Given the description of an element on the screen output the (x, y) to click on. 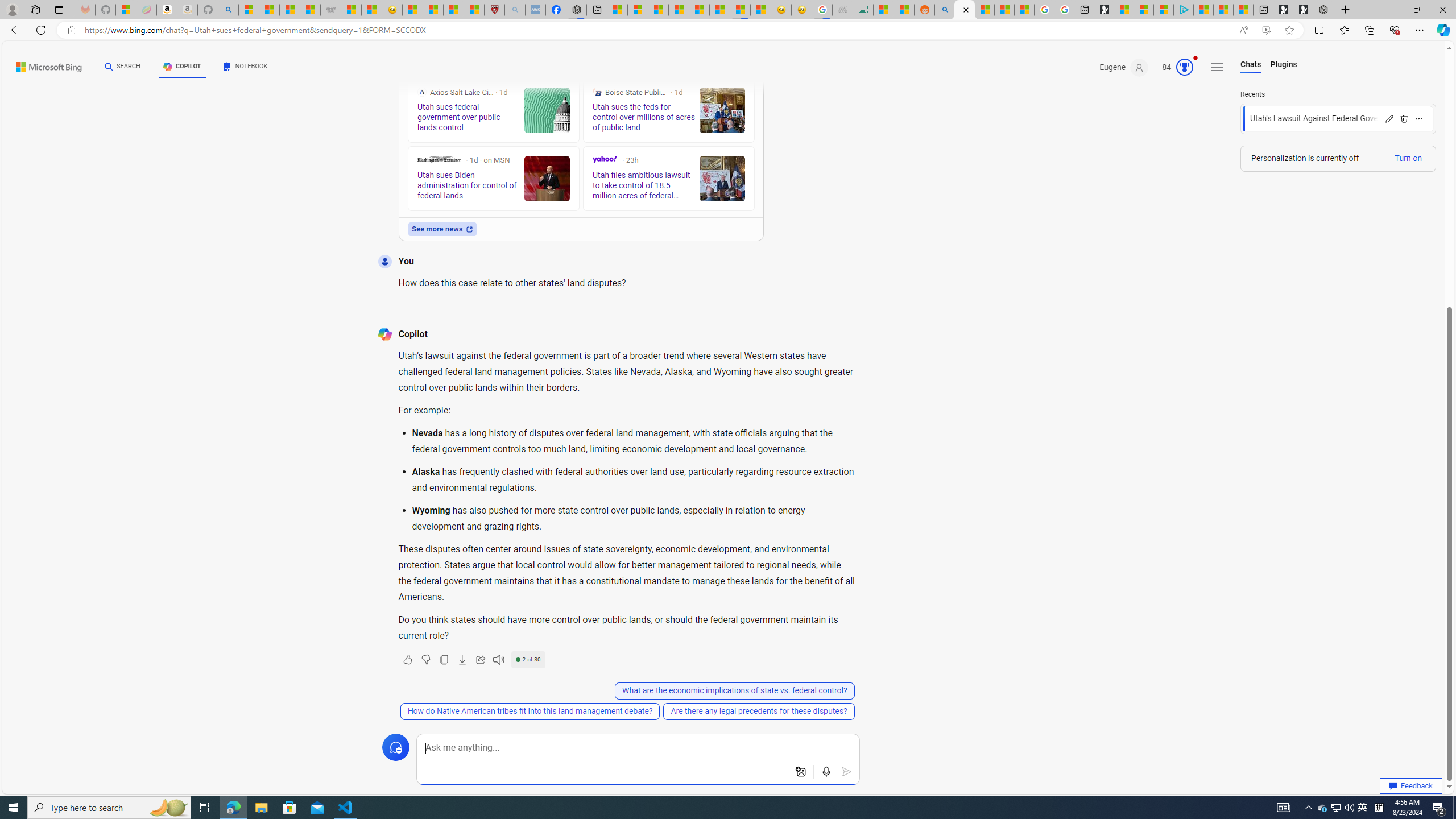
Axios Salt Lake City on MSN (421, 91)
12 Popular Science Lies that Must be Corrected (473, 9)
Robert H. Shmerling, MD - Harvard Health (494, 9)
Plugins (1283, 65)
NOTEBOOK (245, 66)
Share (479, 659)
Read aloud (498, 659)
